Given the description of an element on the screen output the (x, y) to click on. 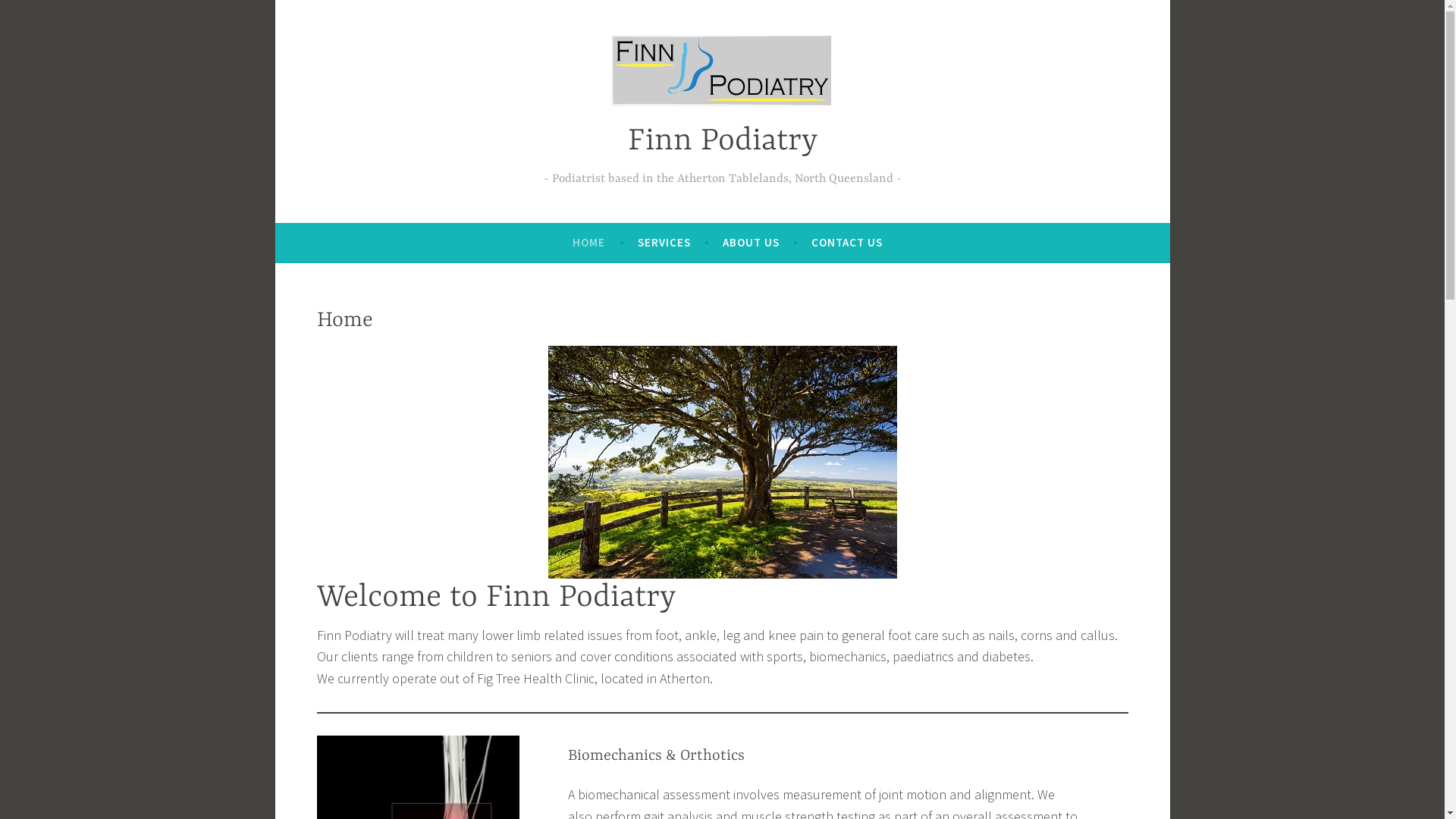
Finn Podiatry Element type: text (722, 141)
SERVICES Element type: text (663, 242)
CONTACT US Element type: text (846, 242)
HOME Element type: text (588, 242)
ABOUT US Element type: text (750, 242)
